Given the description of an element on the screen output the (x, y) to click on. 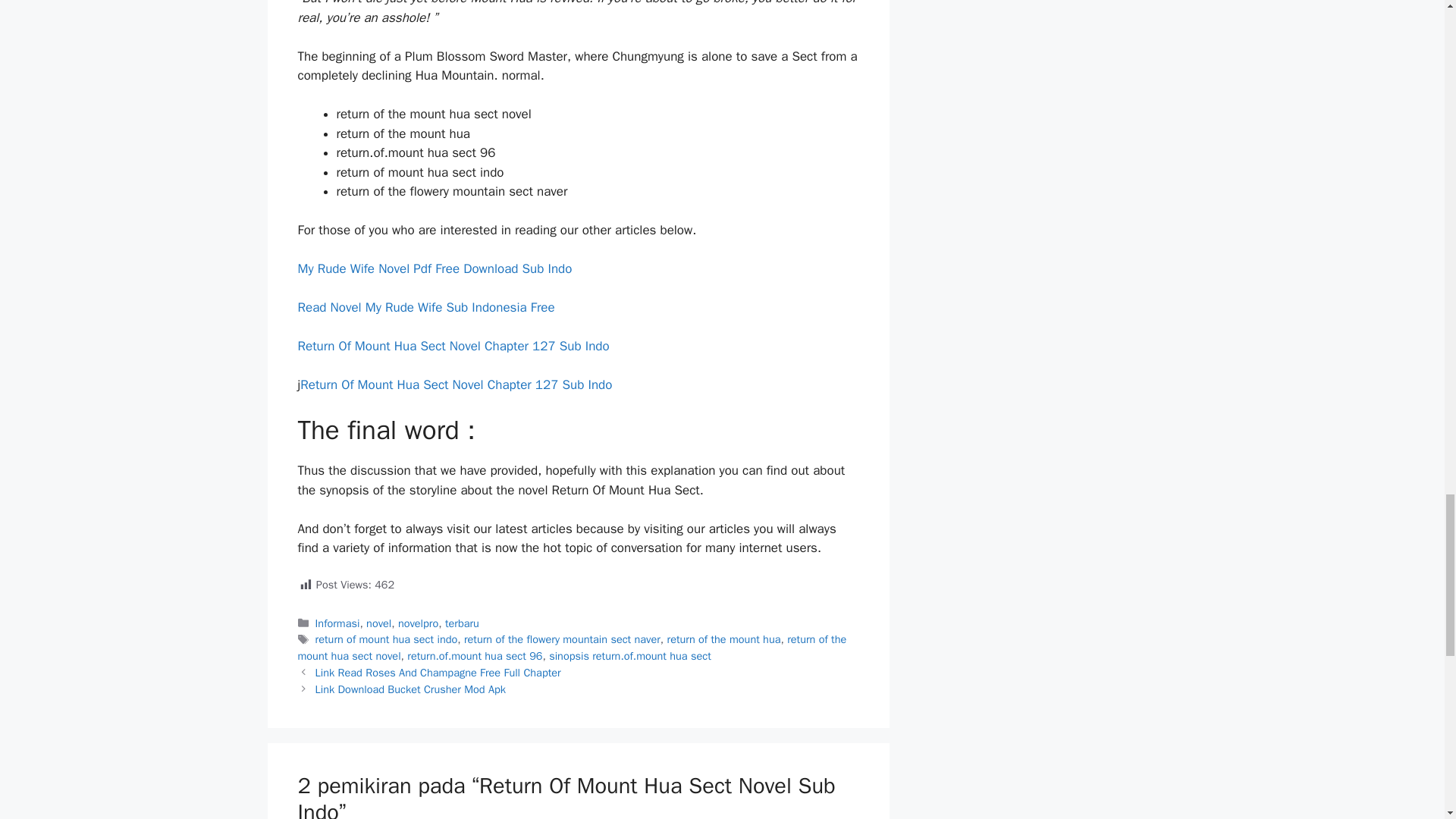
Informasi (337, 622)
return of the flowery mountain sect naver (562, 639)
novel (378, 622)
terbaru (462, 622)
return of mount hua sect indo (386, 639)
Read Novel My Rude Wife Sub Indonesia Free (425, 307)
Link Download Bucket Crusher Mod Apk (410, 689)
My Rude Wife Novel Pdf Free Download Sub Indo (434, 268)
return.of.mount hua sect 96 (474, 655)
Return Of Mount Hua Sect Novel Chapter 127 Sub Indo (452, 345)
return of the mount hua (723, 639)
novelpro (417, 622)
Return Of Mount Hua Sect Novel Chapter 127 Sub Indo (455, 384)
Link Read Roses And Champagne Free Full Chapter (437, 672)
sinopsis return.of.mount hua sect (629, 655)
